Given the description of an element on the screen output the (x, y) to click on. 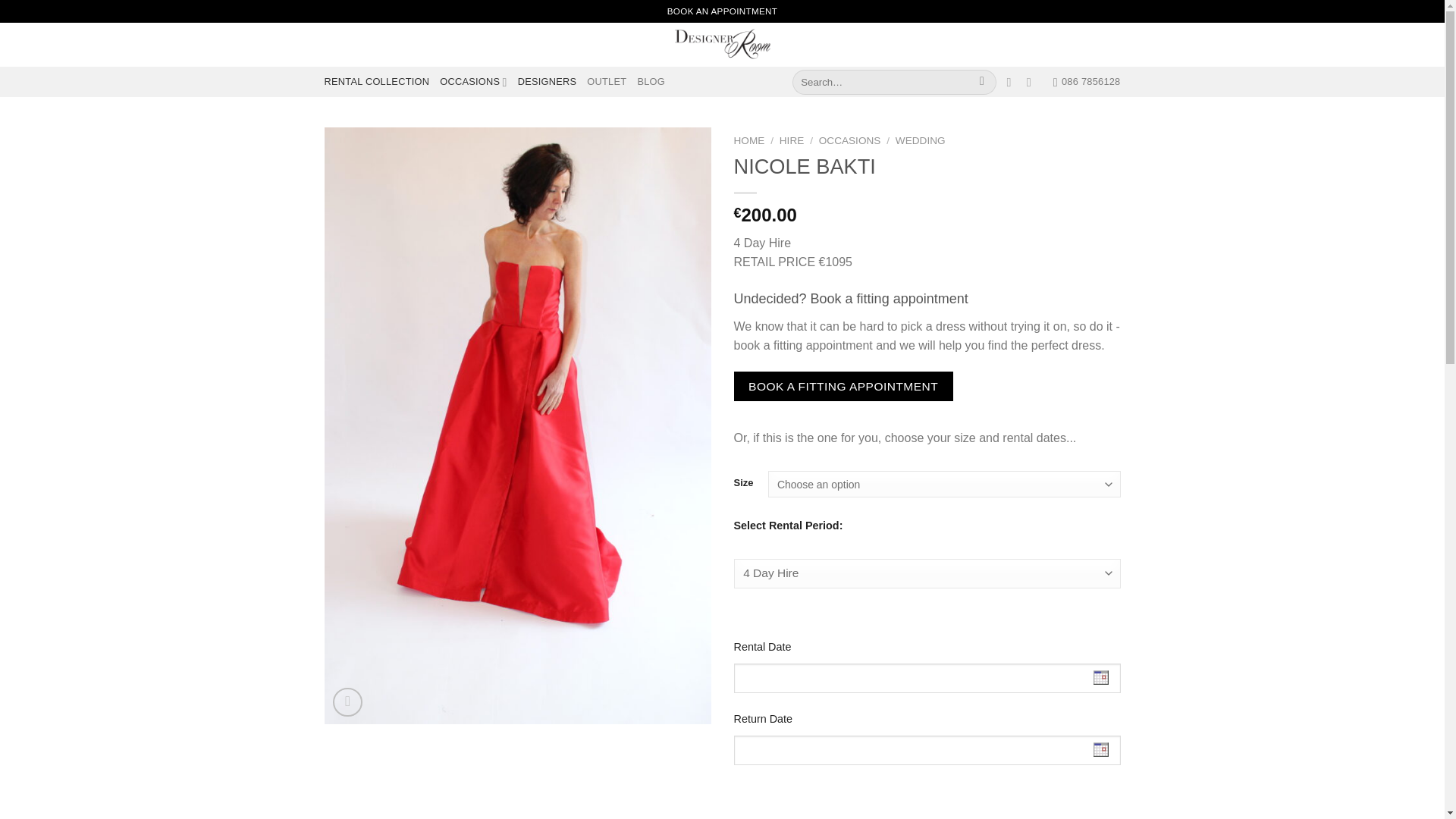
086 7856128 (1086, 81)
BOOK A FITTING APPOINTMENT (843, 386)
Search (981, 81)
WEDDING (919, 140)
086 7856128 (1086, 81)
RENTAL COLLECTION (376, 81)
OCCASIONS (472, 81)
HOME (749, 140)
HIRE (790, 140)
BLOG (651, 81)
OUTLET (606, 81)
OCCASIONS (849, 140)
BOOK AN APPOINTMENT (722, 11)
Zoom (347, 702)
DESIGNERS (547, 81)
